Given the description of an element on the screen output the (x, y) to click on. 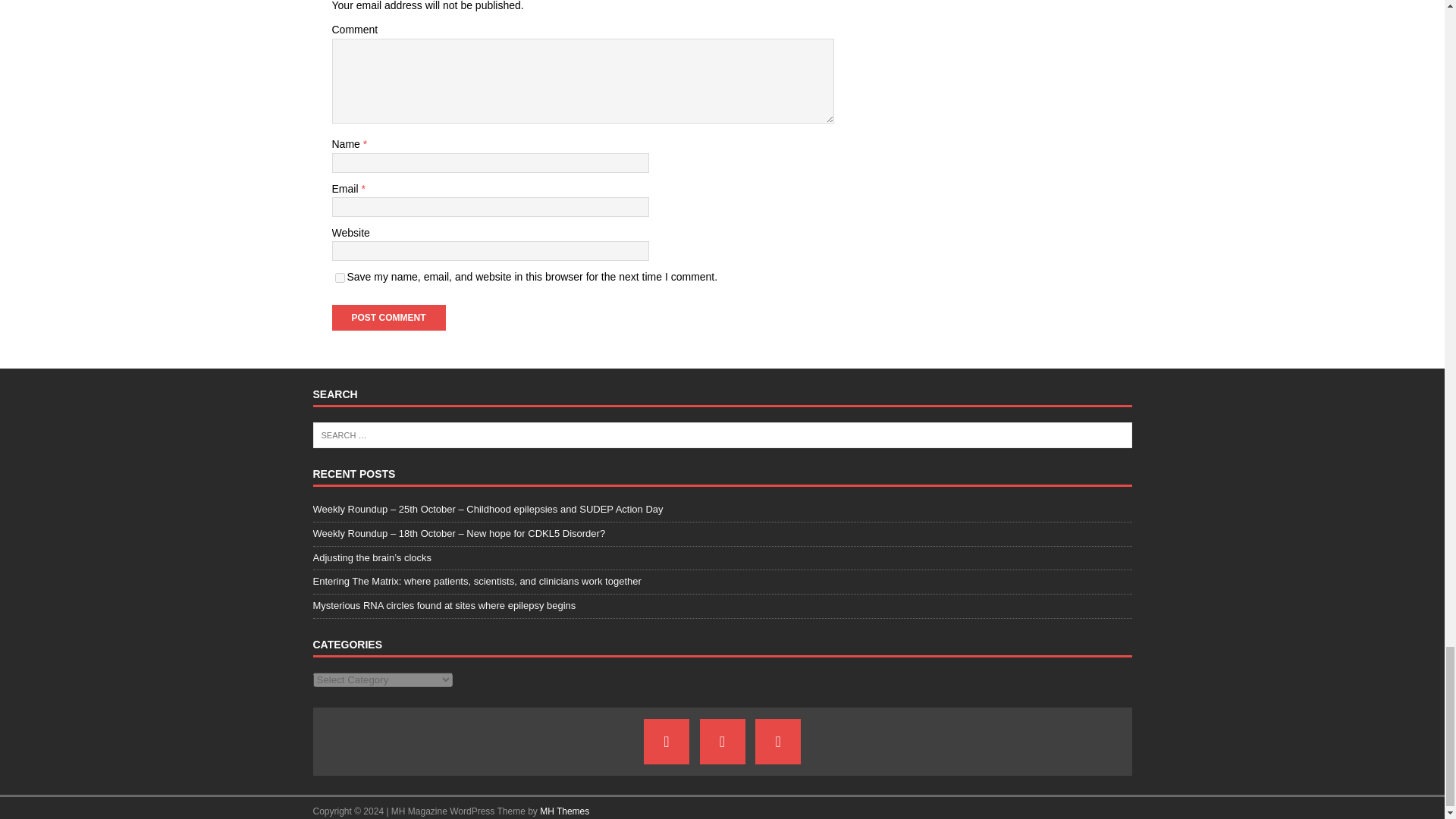
Premium WordPress Themes (564, 810)
Post Comment (388, 317)
yes (339, 277)
